Given the description of an element on the screen output the (x, y) to click on. 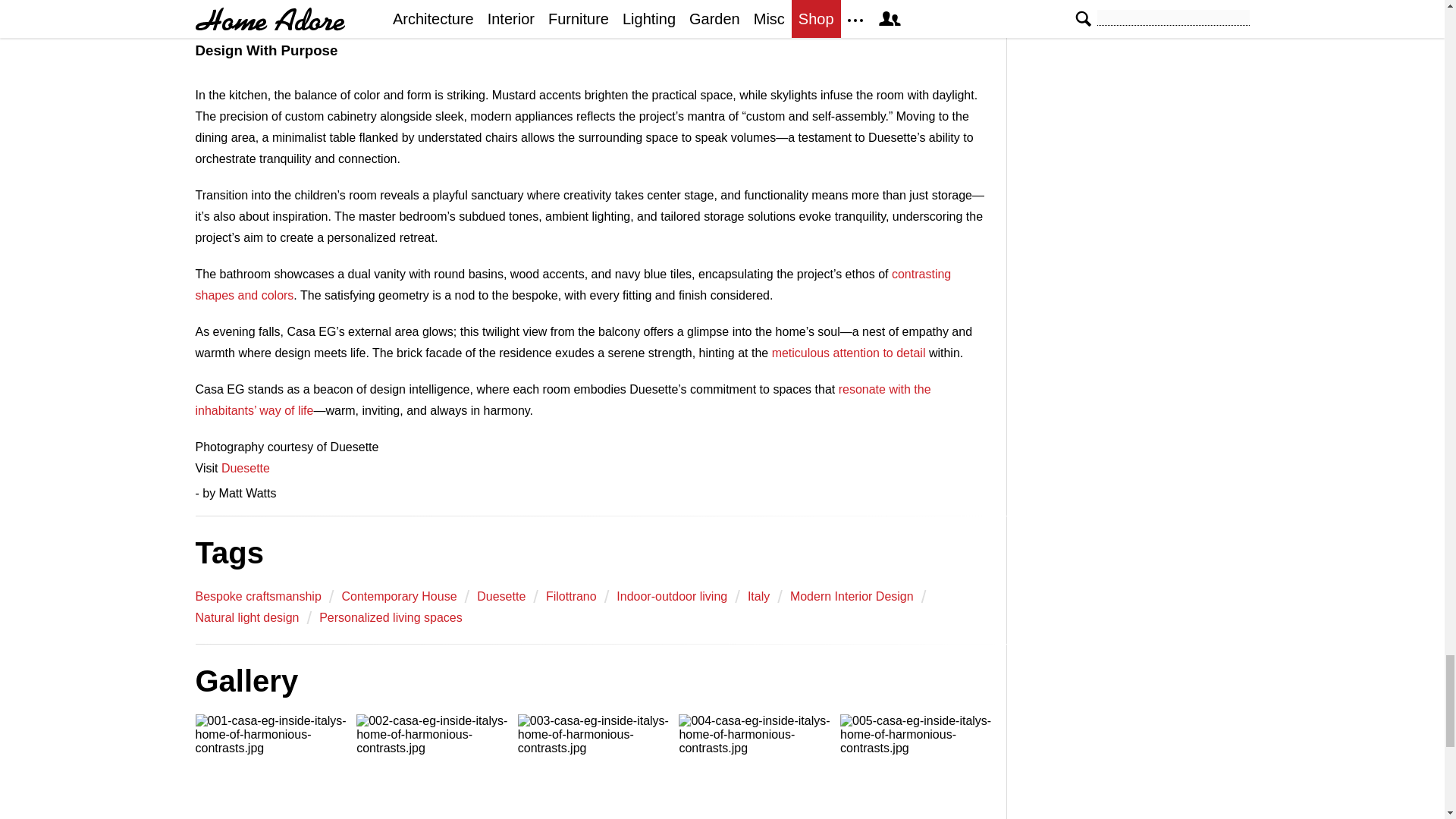
Duesette (501, 596)
Filottrano (571, 596)
indoor-outdoor living (670, 596)
personalized living spaces (390, 617)
italy (759, 596)
natural light design (247, 617)
Modern Interior Design (852, 596)
bespoke craftsmanship (258, 596)
Contemporary House (398, 596)
